Given the description of an element on the screen output the (x, y) to click on. 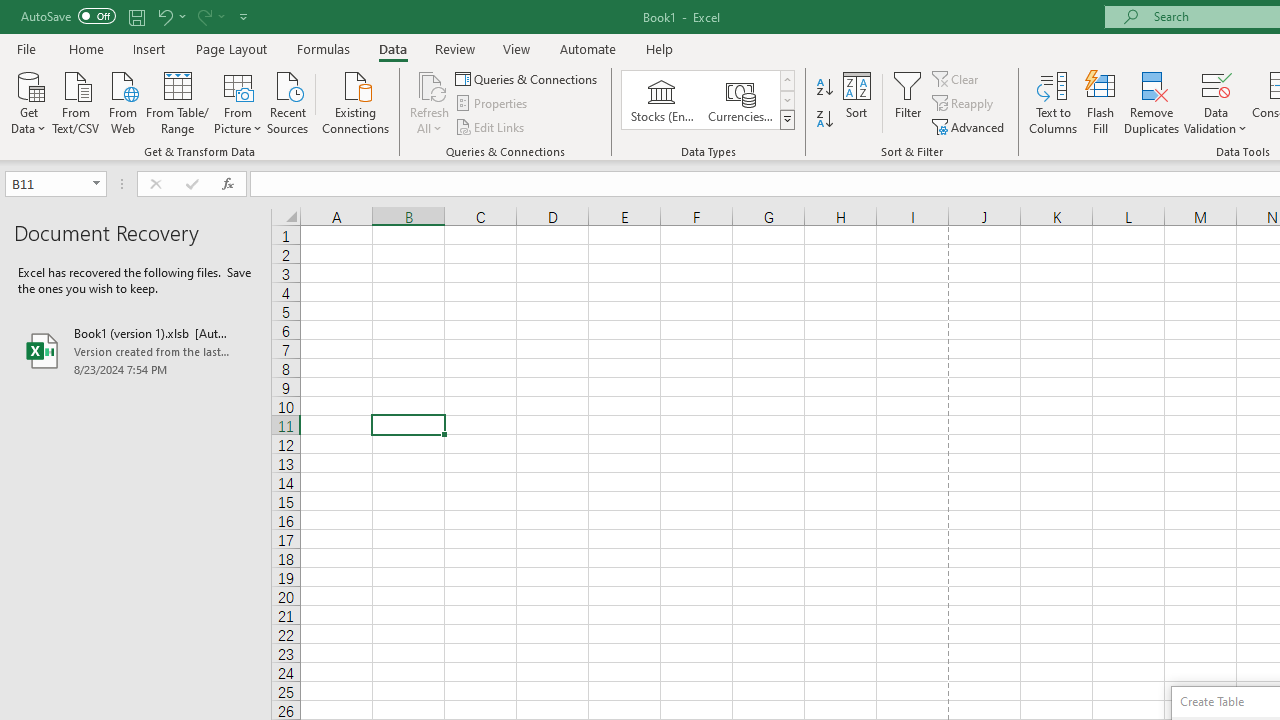
Remove Duplicates (1151, 102)
Sort Z to A (824, 119)
Recent Sources (287, 101)
Currencies (English) (740, 100)
Text to Columns... (1053, 102)
Sort A to Z (824, 87)
Reapply (964, 103)
Queries & Connections (527, 78)
